Given the description of an element on the screen output the (x, y) to click on. 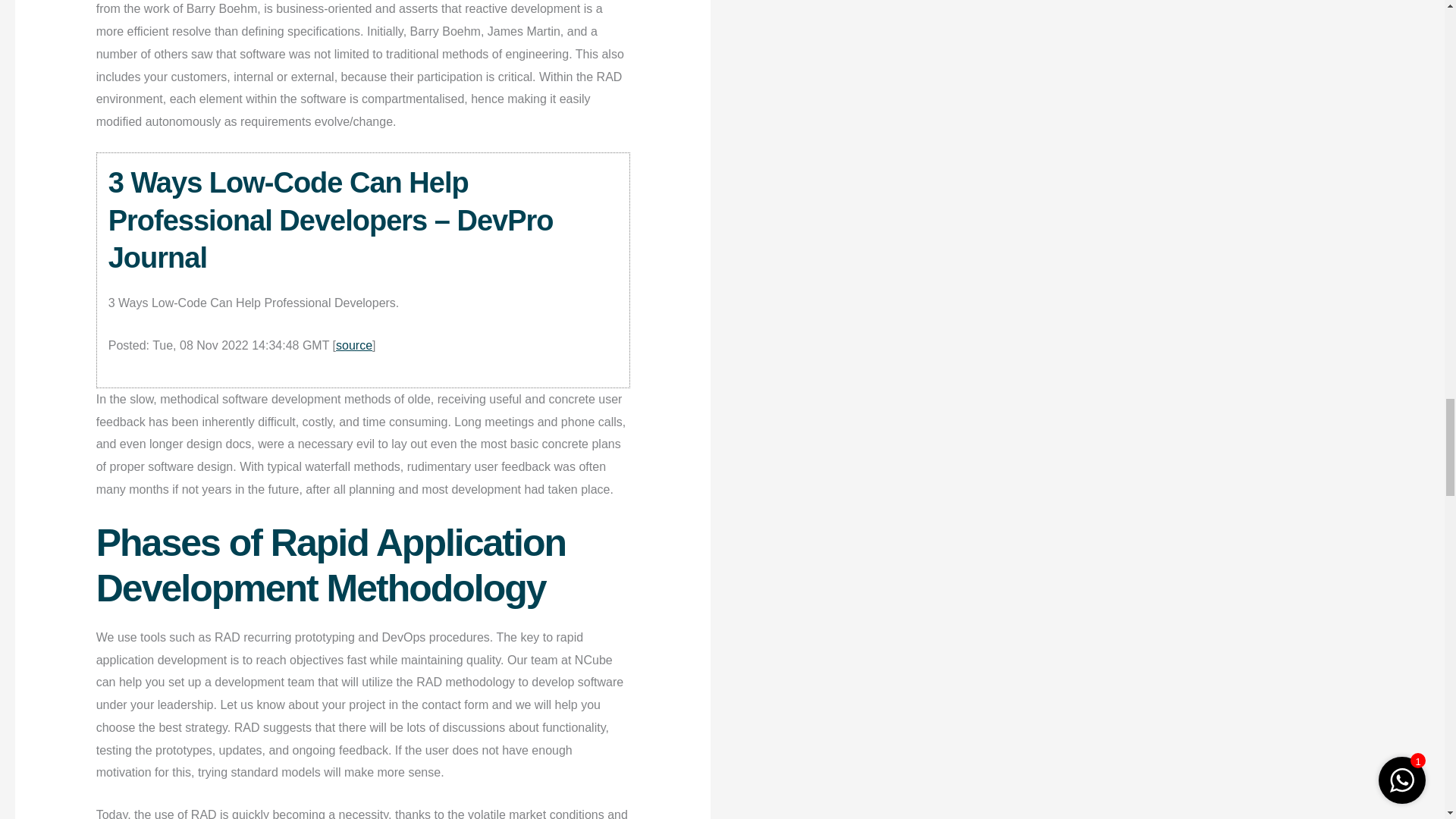
source (354, 345)
